Given the description of an element on the screen output the (x, y) to click on. 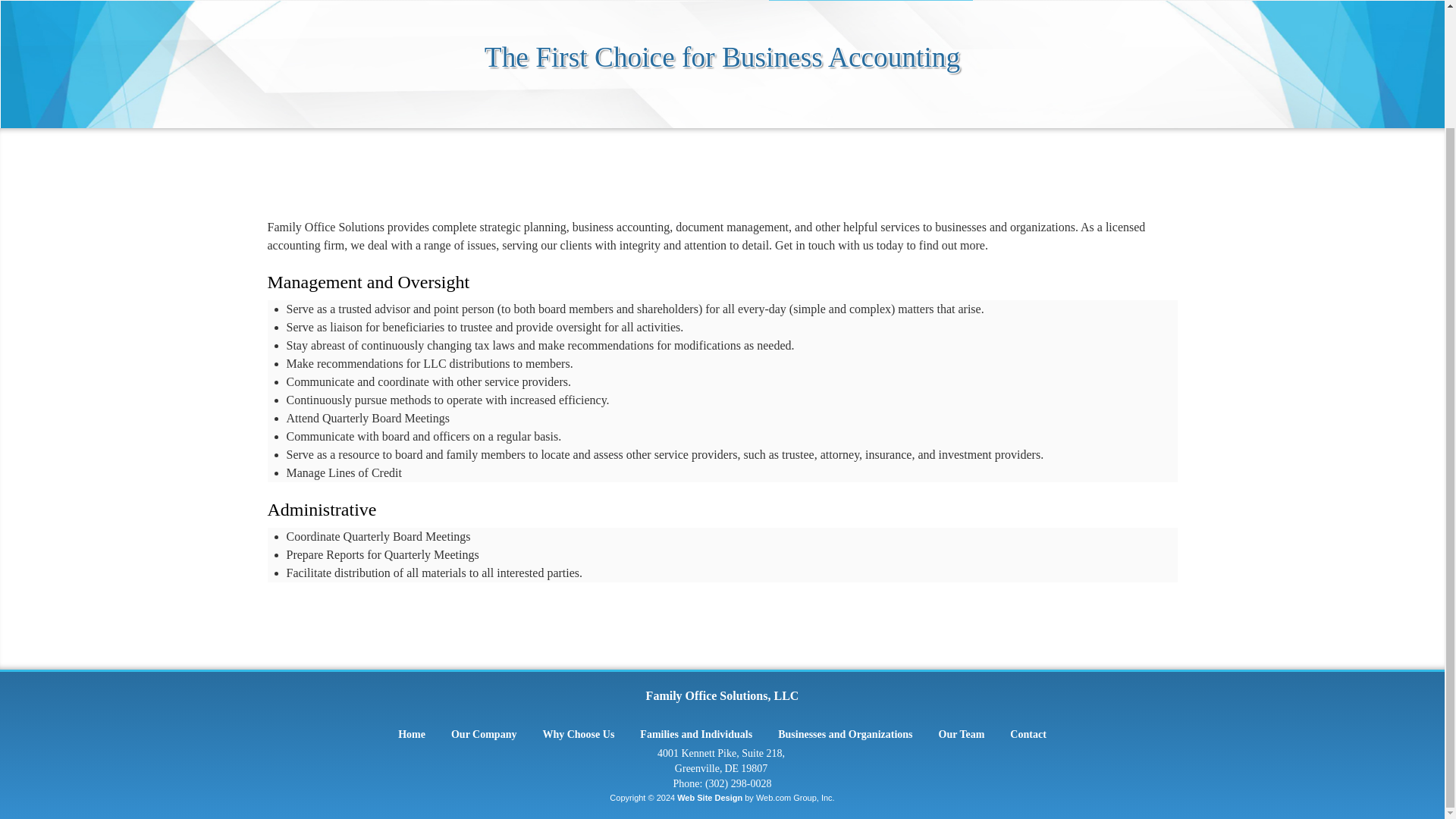
CONTACT (1095, 0)
Why Choose Us (577, 734)
Web Site Design (709, 797)
Our Company (483, 734)
Our Team (962, 734)
Businesses and Organizations (844, 734)
